Given the description of an element on the screen output the (x, y) to click on. 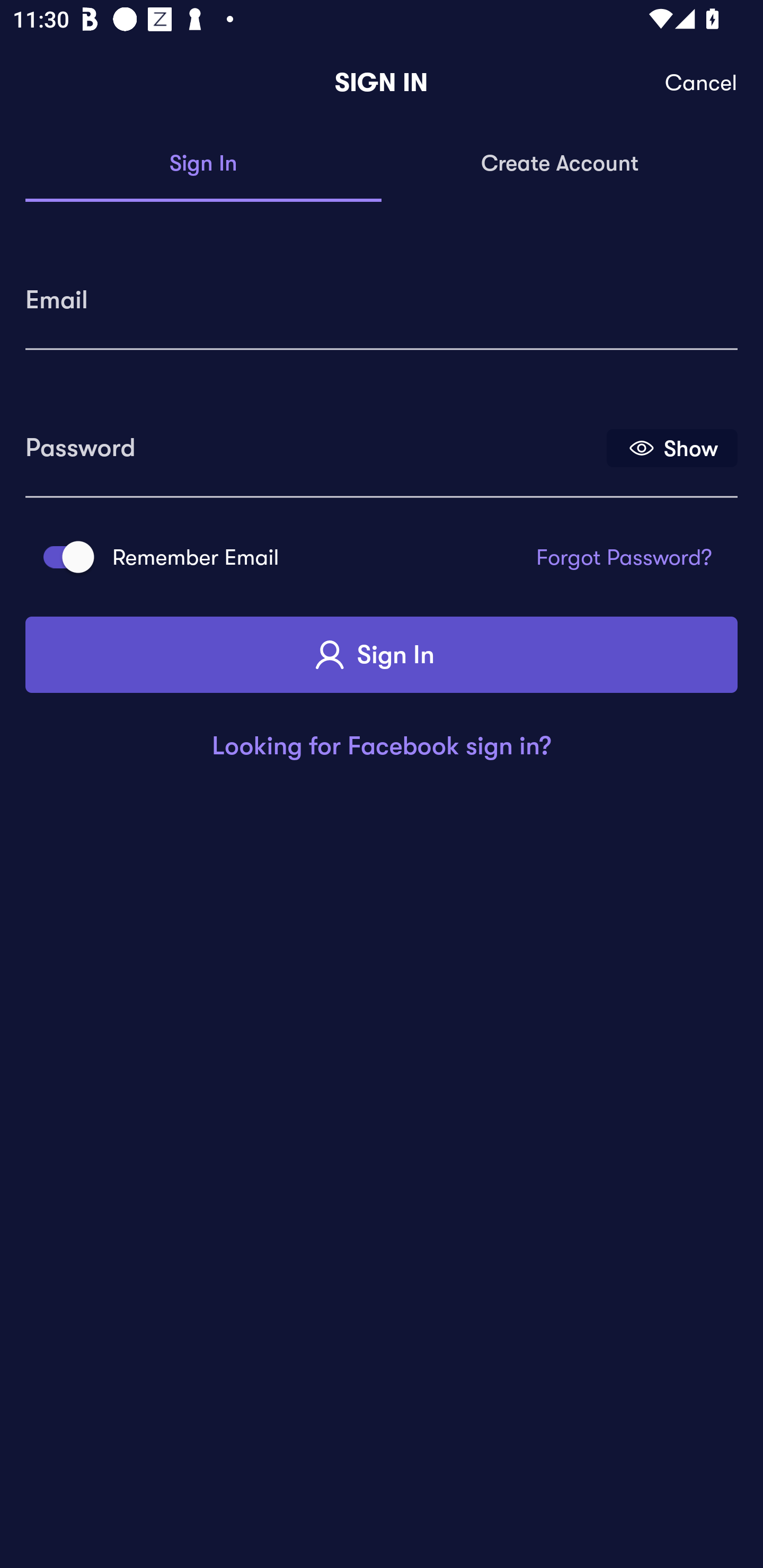
Cancel (701, 82)
Sign In (203, 164)
Create Account (559, 164)
Email (381, 293)
Password (314, 441)
Show Password Show (671, 447)
Remember Email (62, 557)
Sign In (381, 654)
